Given the description of an element on the screen output the (x, y) to click on. 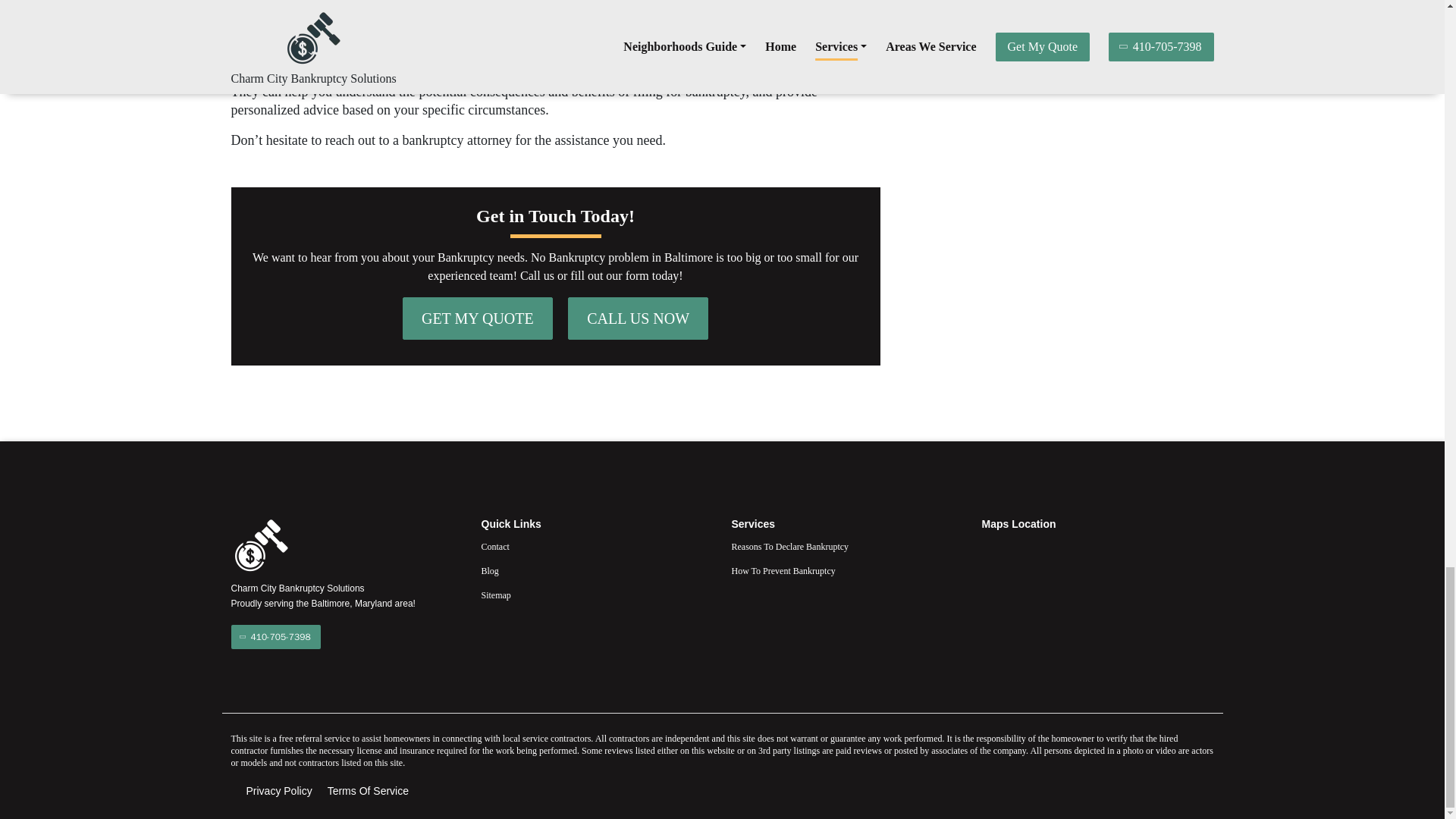
GET MY QUOTE (478, 318)
CALL US NOW (637, 318)
